Given the description of an element on the screen output the (x, y) to click on. 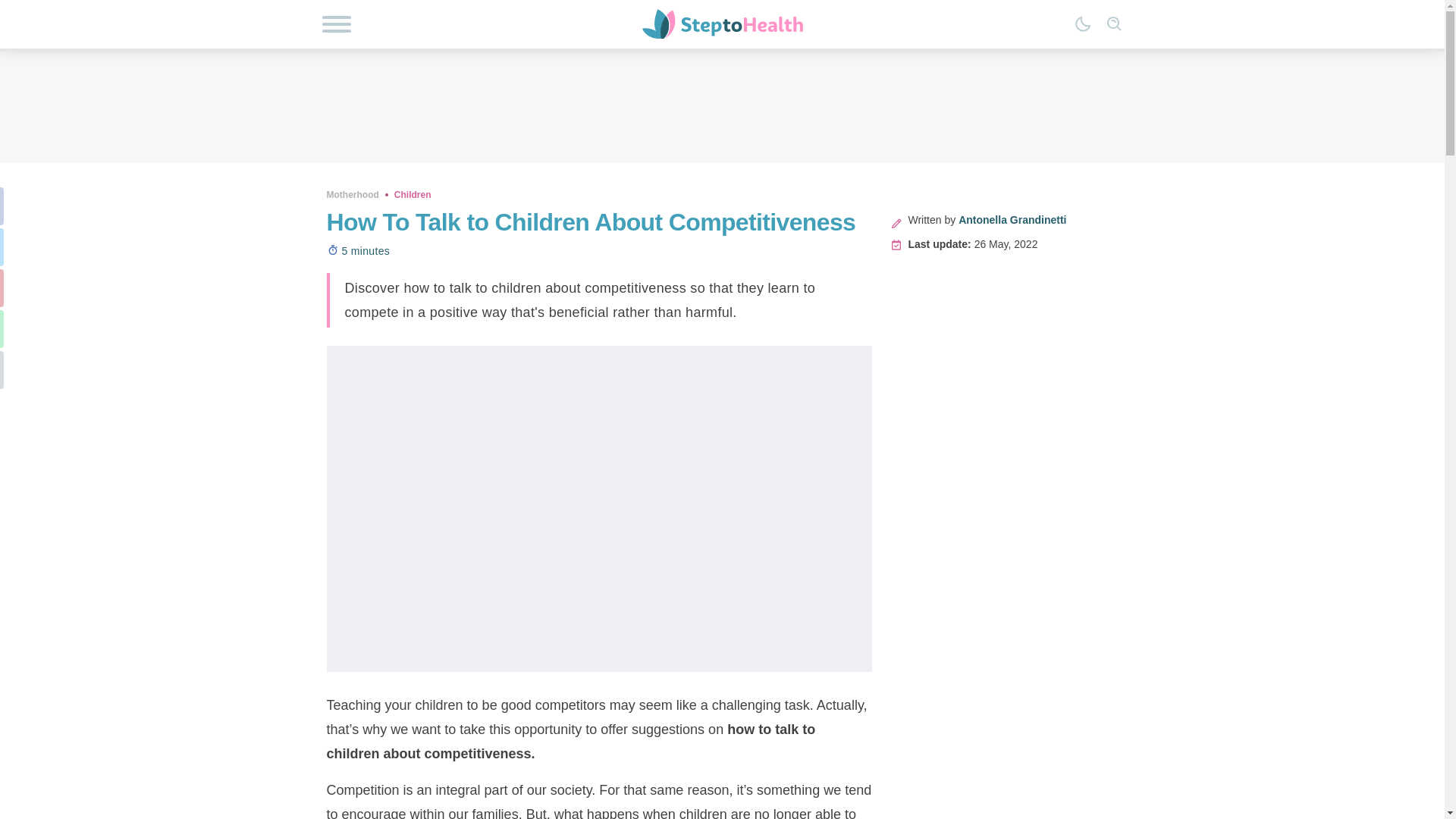
Motherhood (352, 193)
Antonella Grandinetti (1011, 219)
Motherhood (352, 193)
Children (412, 193)
Children (412, 193)
